Given the description of an element on the screen output the (x, y) to click on. 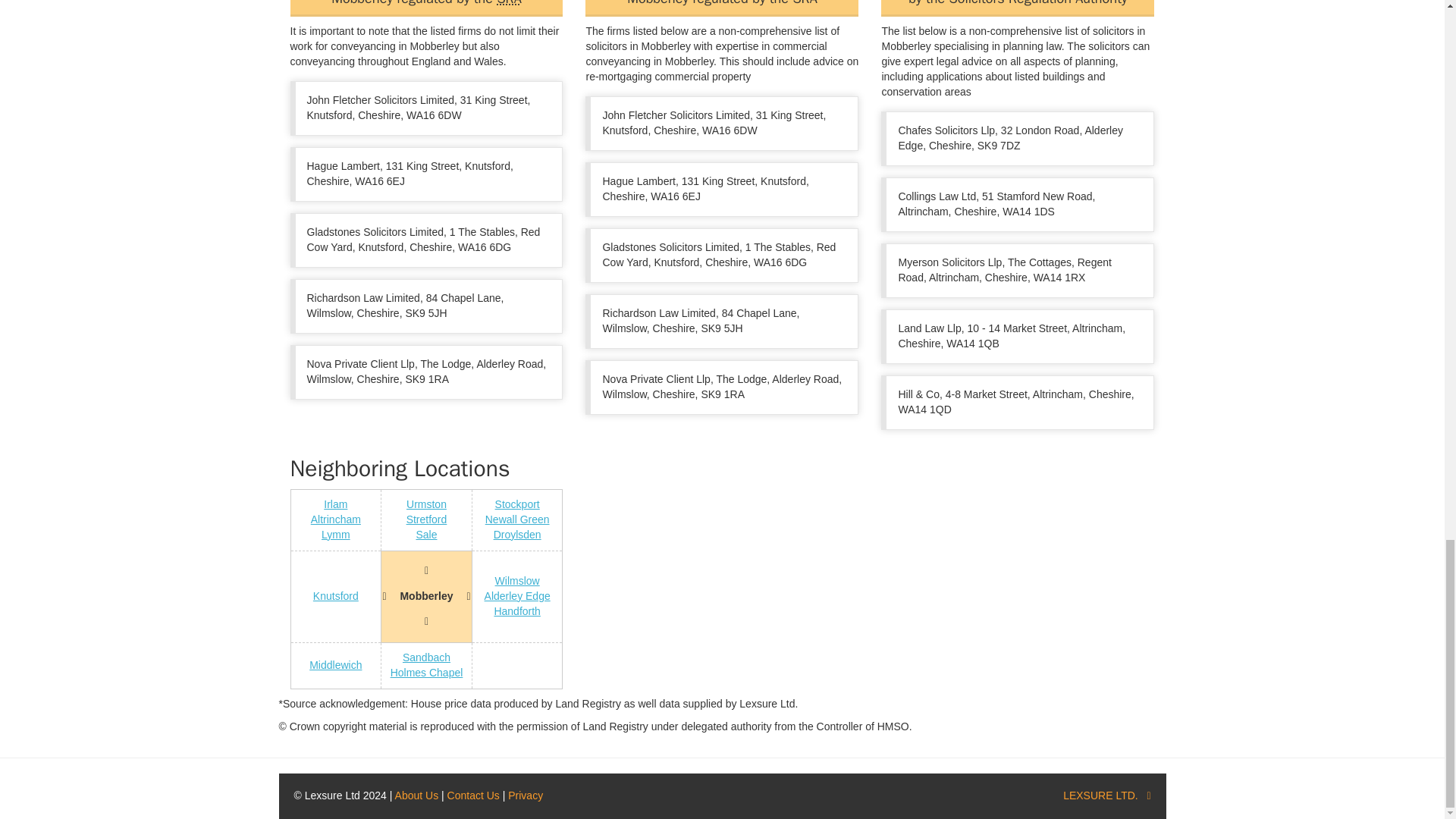
Stretford (426, 519)
Droylsden (517, 534)
Knutsford (335, 595)
LEXSURE LTD. (1100, 795)
Urmston (426, 503)
Sale (425, 534)
Newall Green (517, 519)
Solicitors Regulatory Authority (508, 3)
Holmes Chapel (426, 672)
Lymm (335, 534)
Privacy (525, 795)
Sandbach (426, 657)
Alderley Edge (517, 595)
Handforth (516, 611)
Middlewich (334, 664)
